Given the description of an element on the screen output the (x, y) to click on. 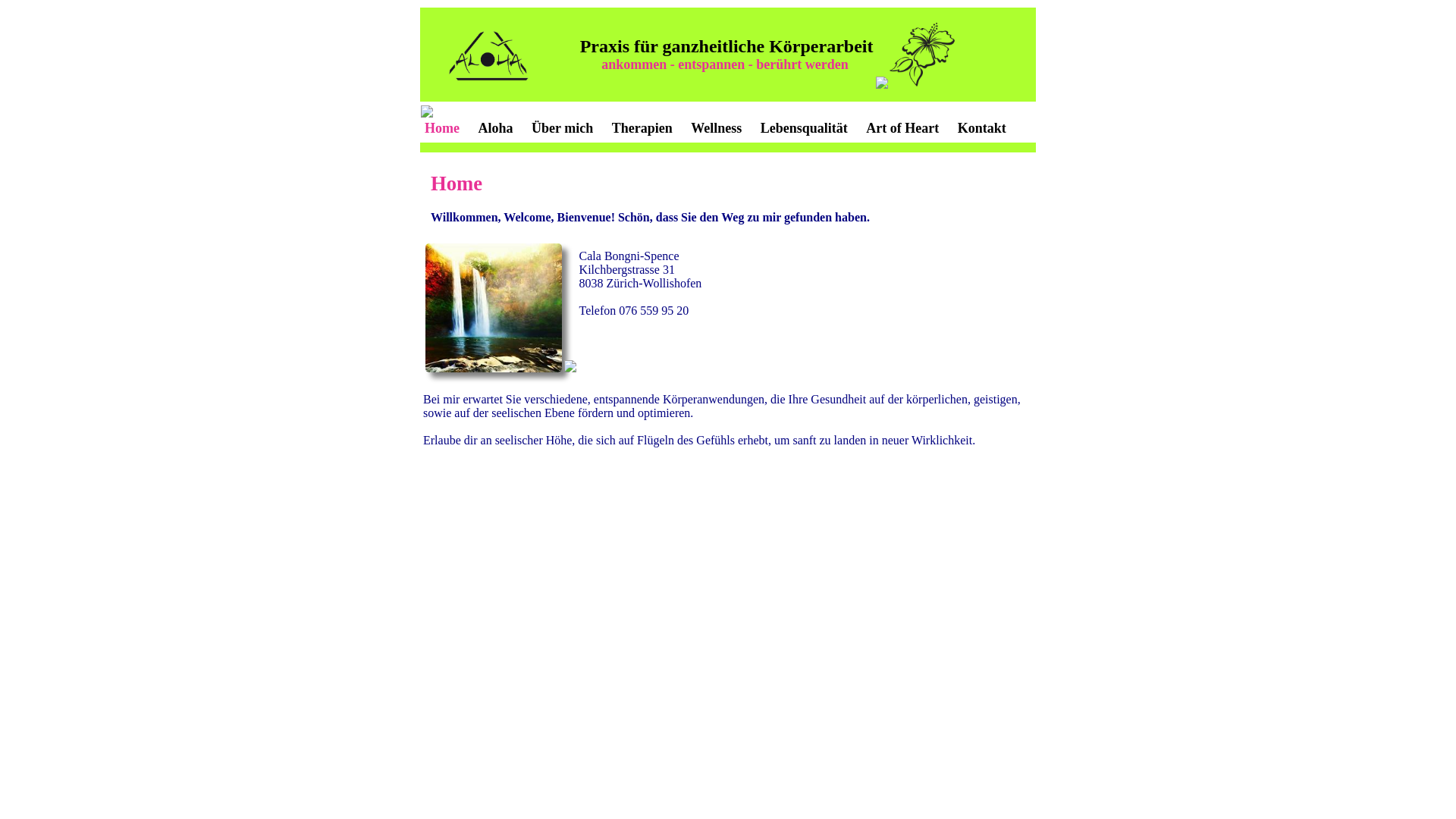
Wellness Element type: text (716, 127)
Therapien Element type: text (642, 127)
The Peaceful Land Element type: hover (493, 307)
Kontakt Element type: text (981, 127)
Aloha Element type: text (495, 127)
Home Element type: text (442, 127)
Art of Heart Element type: text (902, 127)
